Given the description of an element on the screen output the (x, y) to click on. 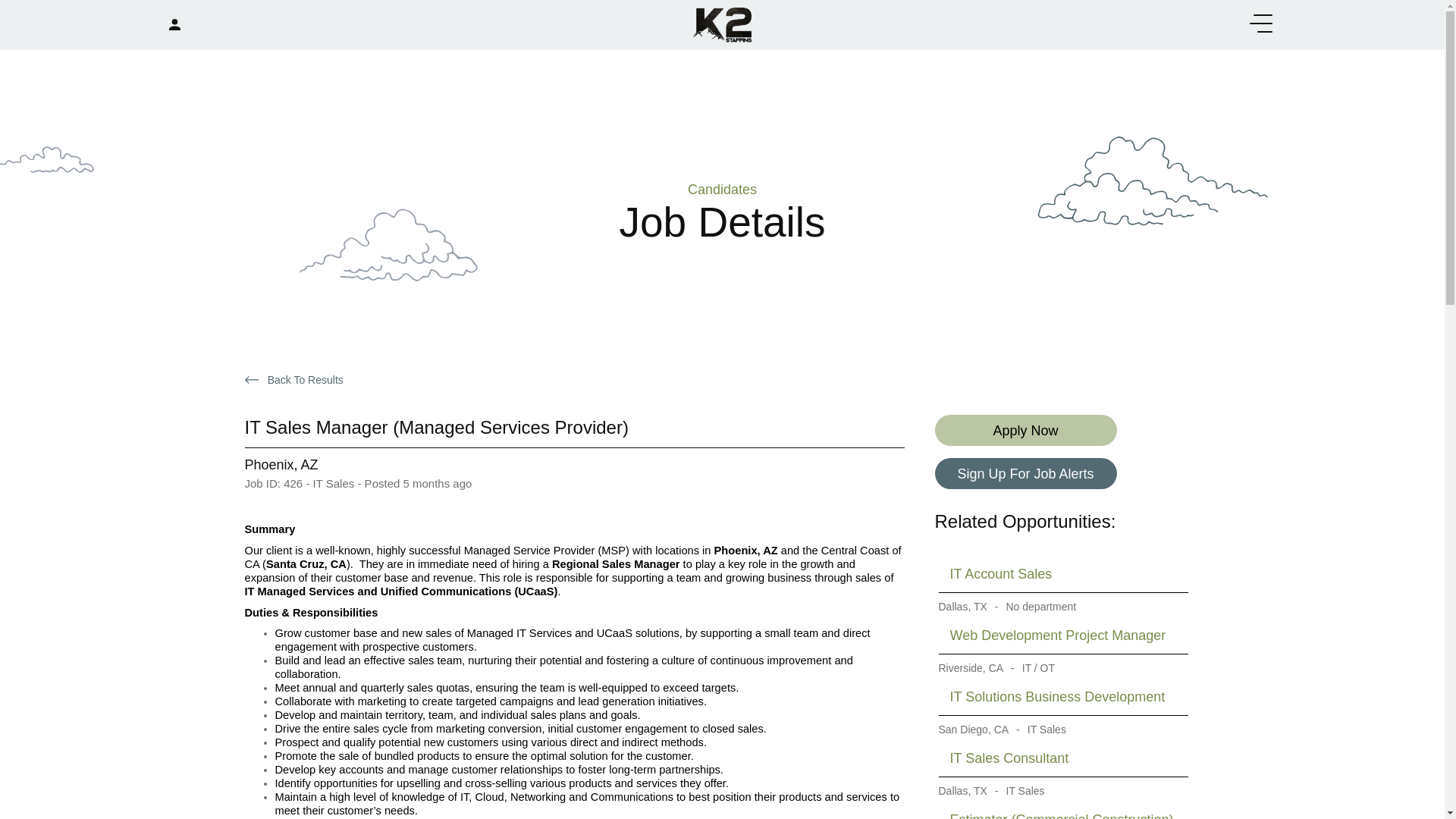
Web Development Project Manager (1062, 635)
IT Sales Consultant (1062, 758)
User Login Icon (173, 24)
IT Solutions Business Development (1062, 696)
K2 Staffing Logo (722, 23)
IT Account Sales (1062, 573)
Back To Results (297, 378)
Apply Now (1025, 429)
Sign Up For Job Alerts (1025, 472)
